Given the description of an element on the screen output the (x, y) to click on. 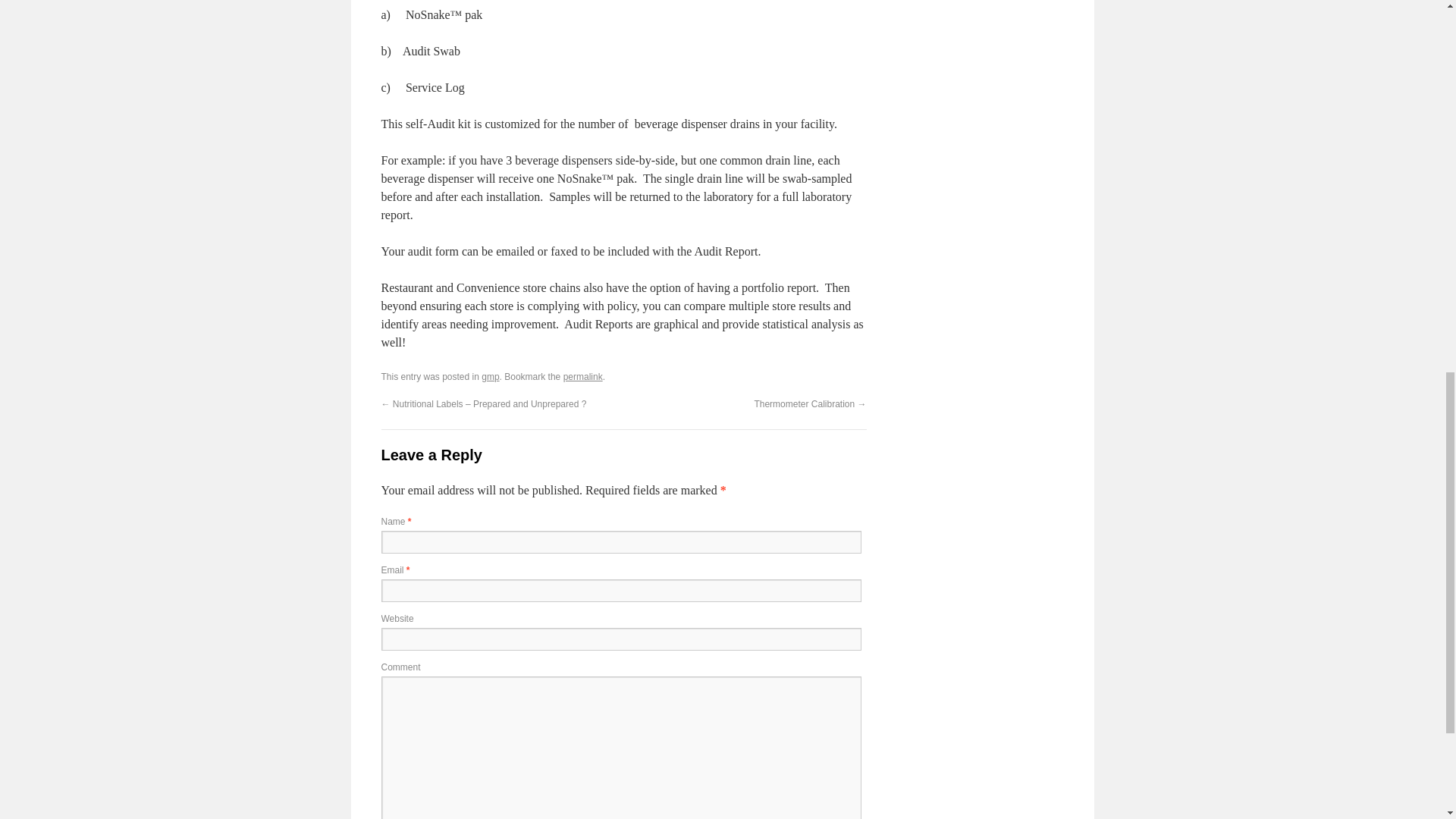
permalink (582, 376)
gmp (490, 376)
